Given the description of an element on the screen output the (x, y) to click on. 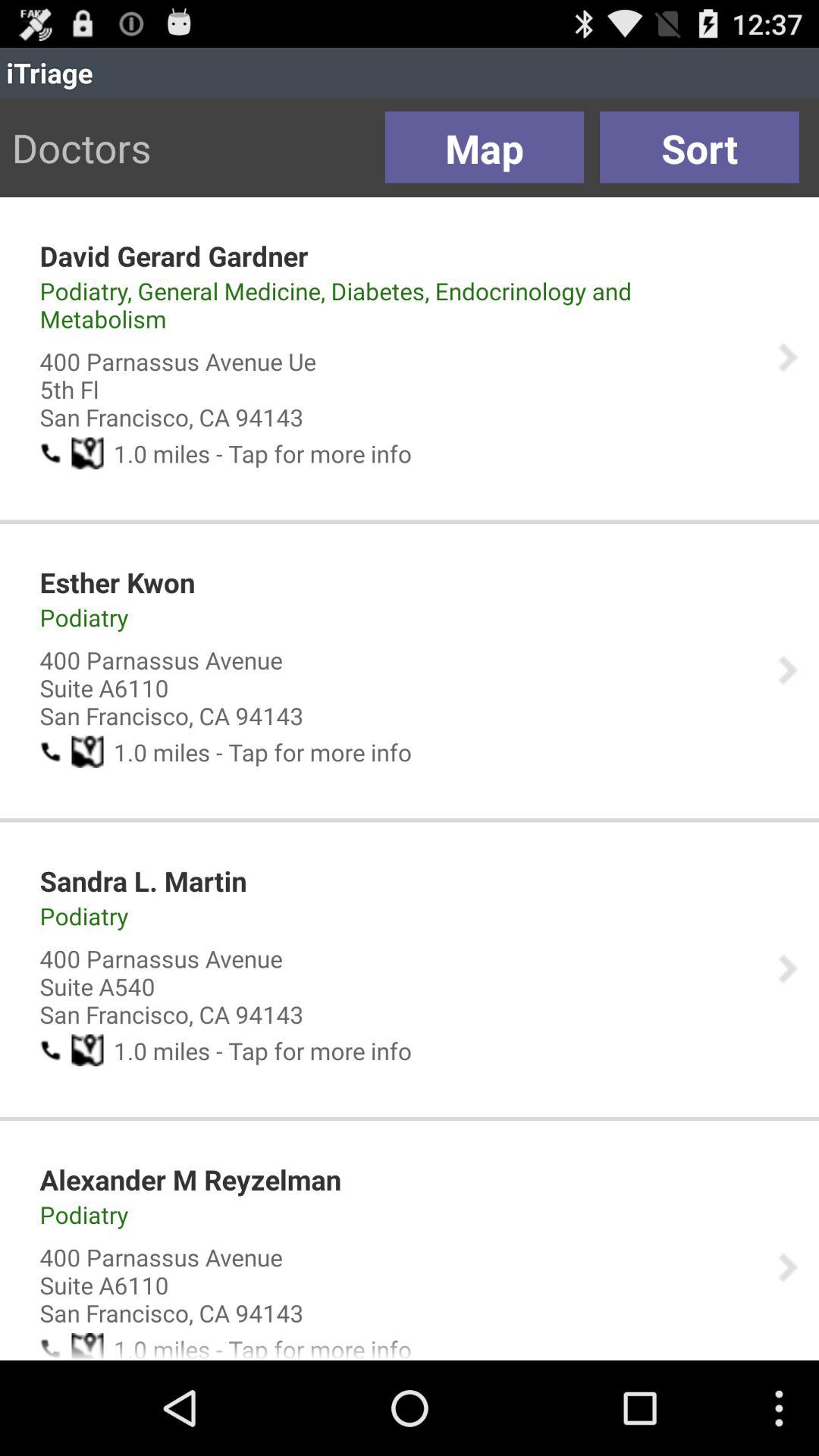
turn off the item above the 400 parnassus avenue app (398, 304)
